Given the description of an element on the screen output the (x, y) to click on. 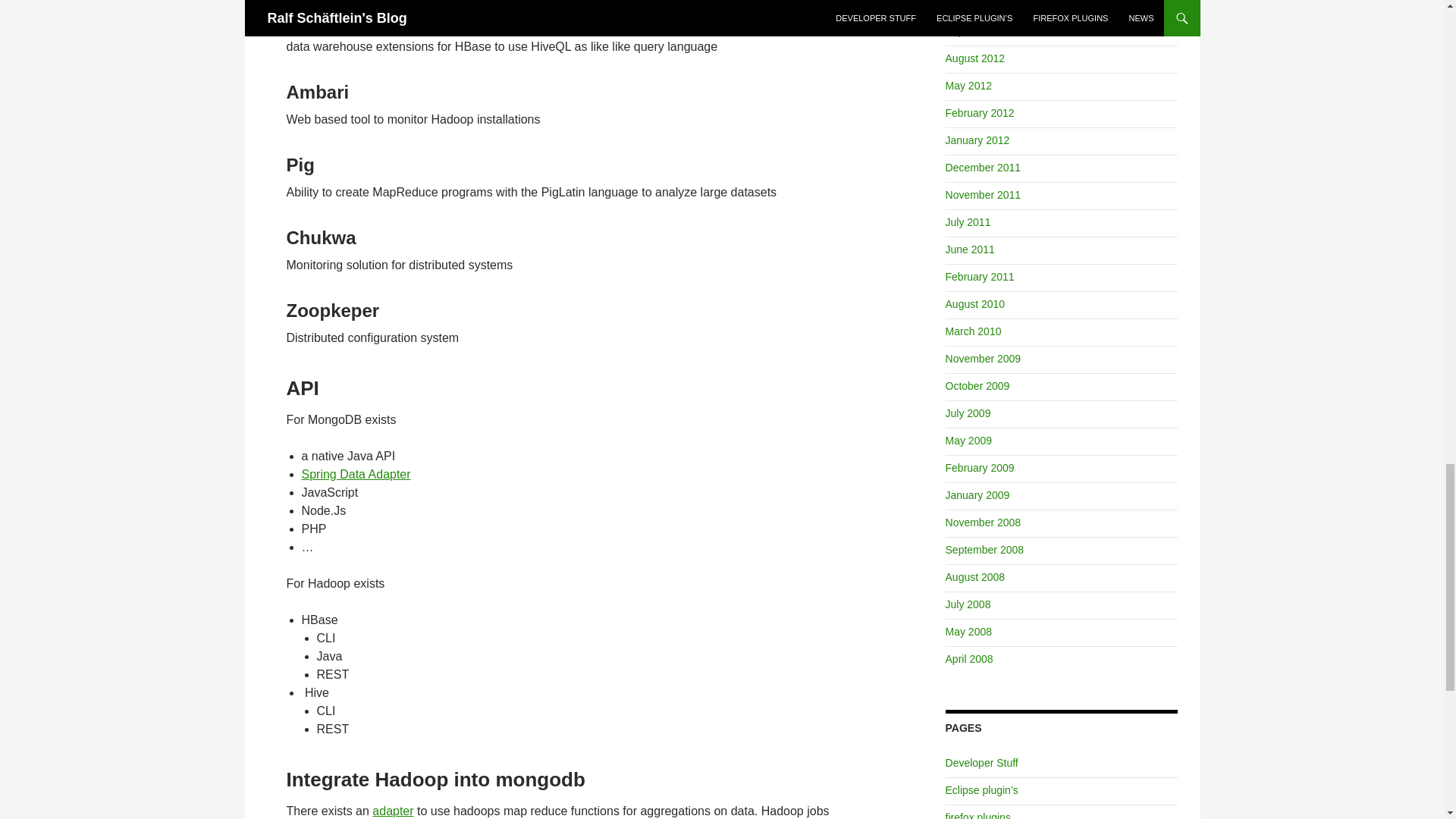
Spring Data Adapter (355, 473)
adapter (392, 810)
